Given the description of an element on the screen output the (x, y) to click on. 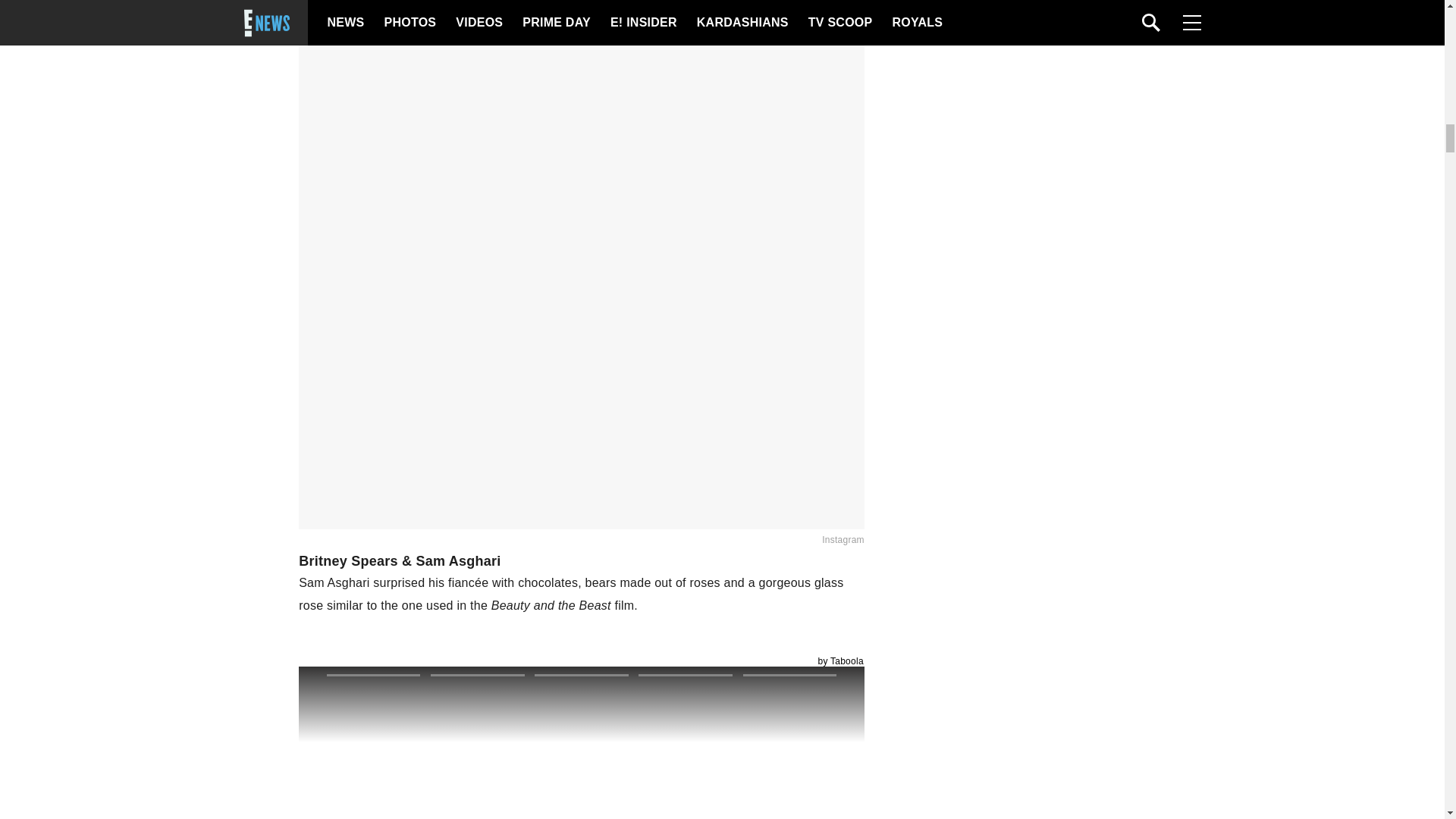
by Taboola (839, 661)
